Given the description of an element on the screen output the (x, y) to click on. 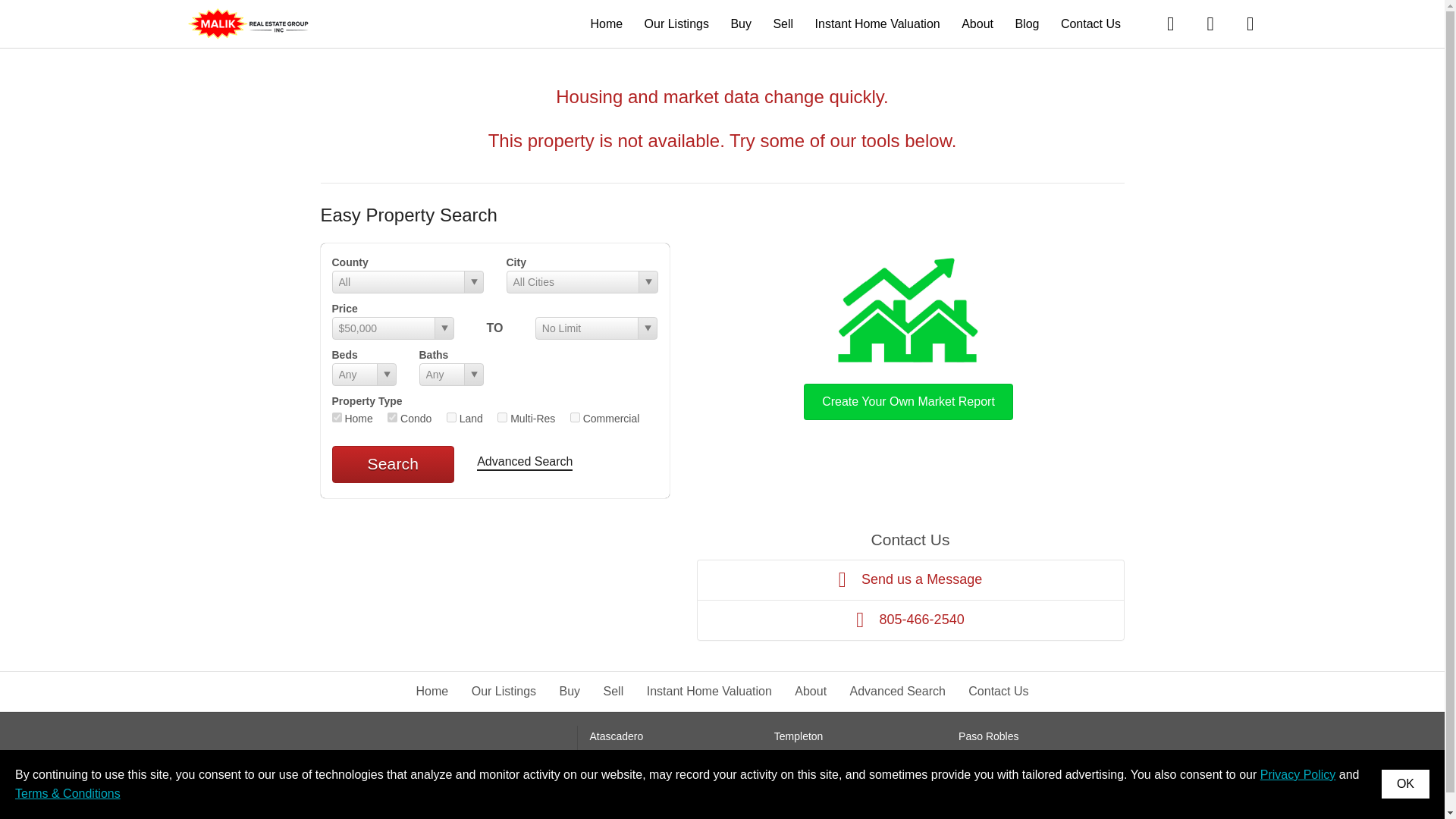
Sell (614, 690)
Send us a Message (909, 579)
San Luis Obispo (628, 758)
About (976, 23)
Morro Bay (982, 758)
Atascadero (616, 736)
res (336, 417)
Instant Home Valuation (708, 690)
Home (432, 690)
805-466-2540 (909, 619)
